Given the description of an element on the screen output the (x, y) to click on. 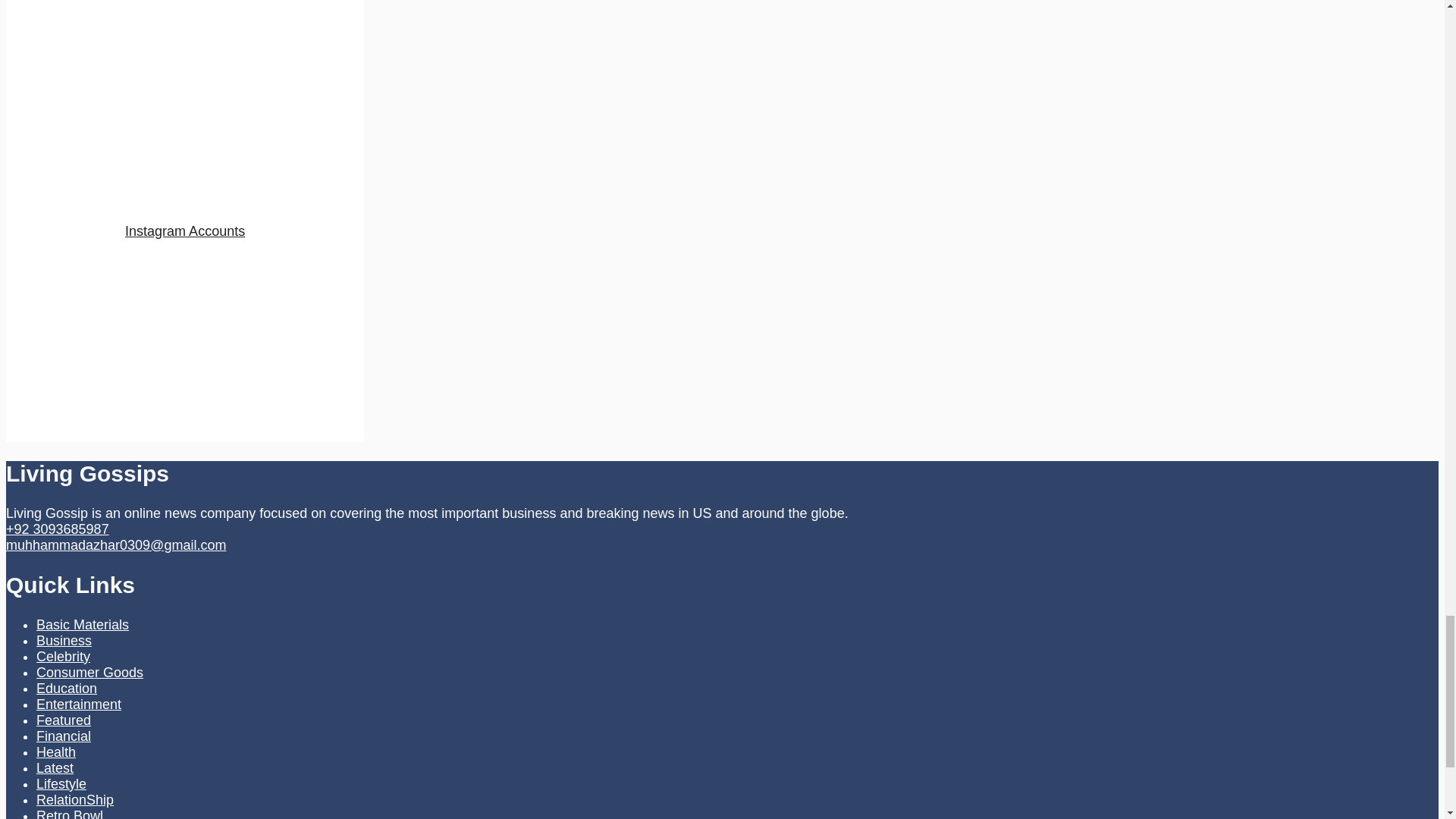
Instagram Accounts (184, 231)
Business (63, 640)
Consumer Goods (89, 672)
Celebrity (63, 656)
Basic Materials (82, 624)
Education (66, 688)
